Given the description of an element on the screen output the (x, y) to click on. 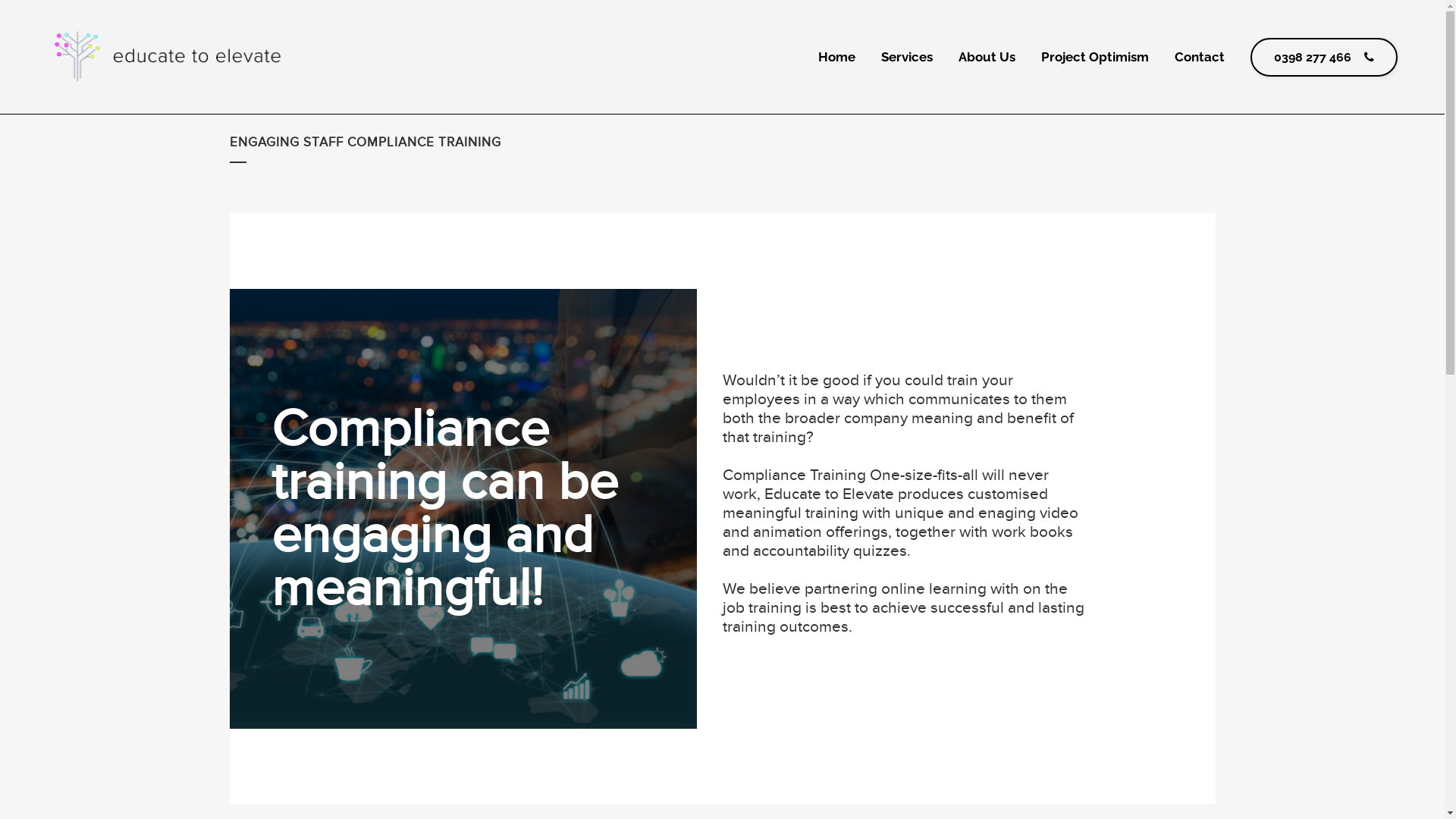
Services Element type: text (906, 56)
Project Optimism Element type: text (1094, 56)
0398 277 466 Element type: text (1323, 56)
Home Element type: text (836, 56)
Contact Element type: text (1199, 56)
About Us Element type: text (986, 56)
